Given the description of an element on the screen output the (x, y) to click on. 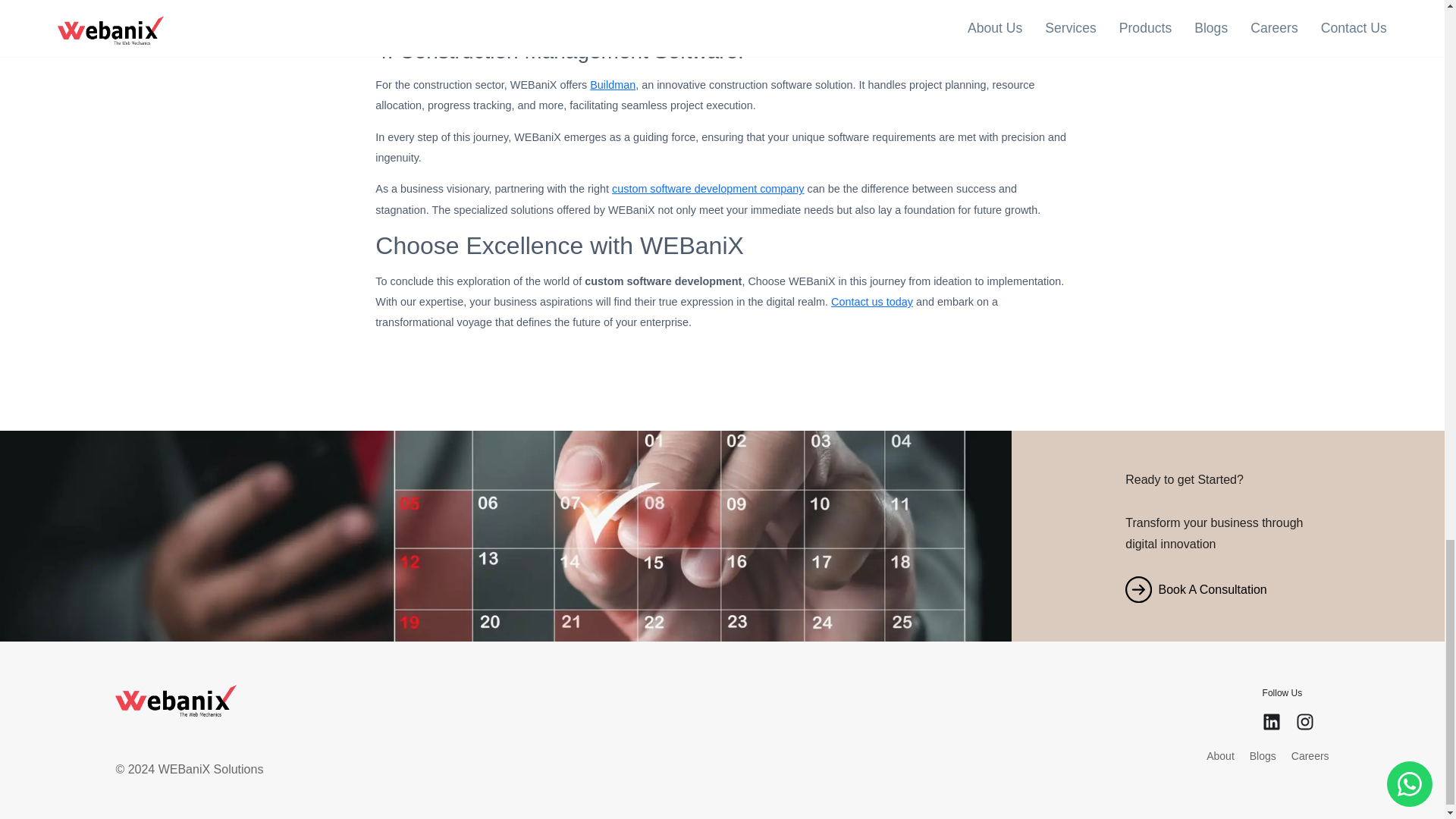
Book A Consultation (1227, 589)
Buildman (611, 84)
Careers (1310, 769)
Contact us today (871, 301)
custom software development company (708, 188)
